Given the description of an element on the screen output the (x, y) to click on. 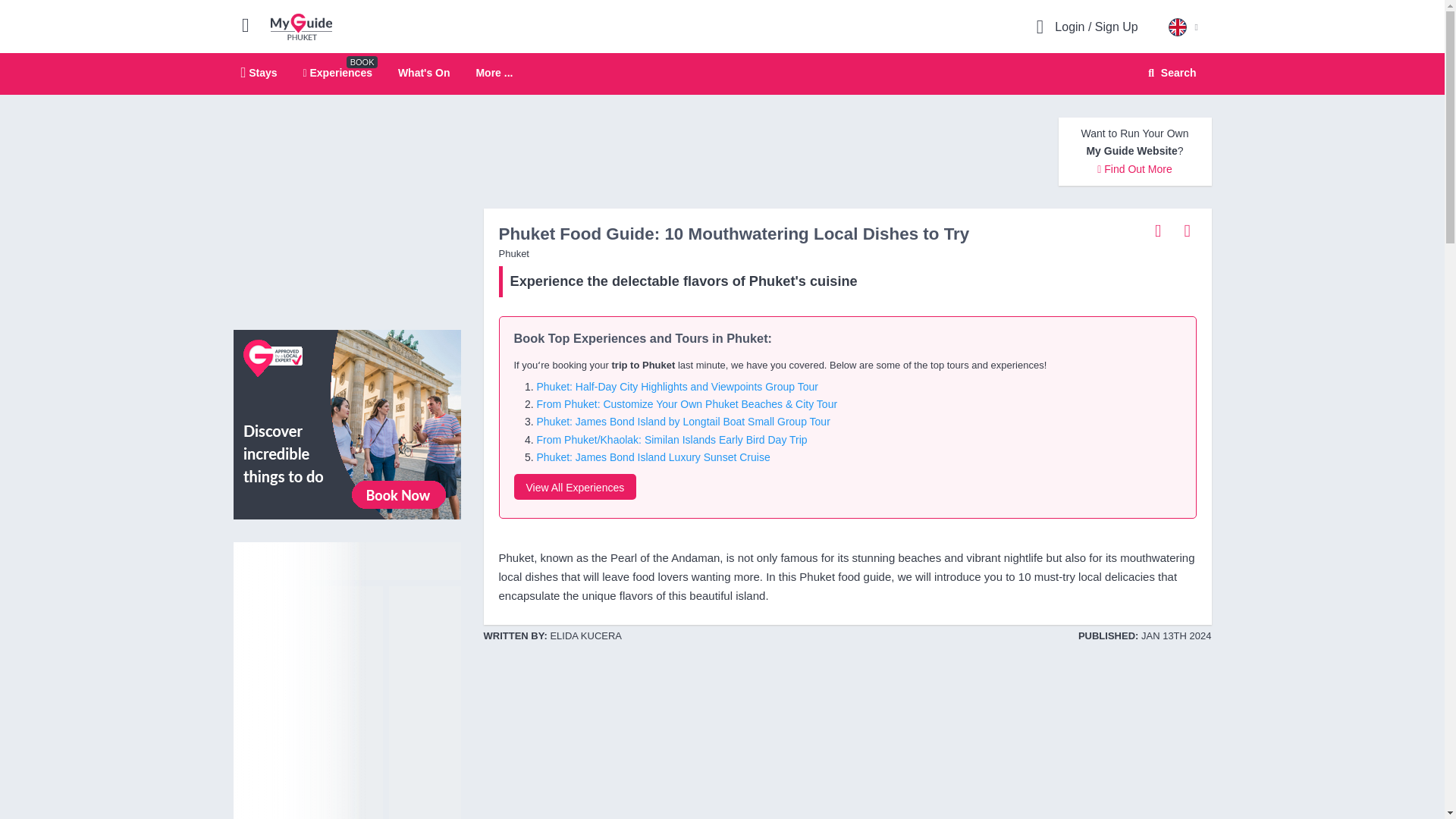
My Guide Phuket (721, 74)
Experiences (300, 25)
Search (337, 72)
View All Experiences (1169, 72)
What's On (575, 486)
Stays (423, 72)
View All Experiences (259, 72)
More ... (346, 423)
